Given the description of an element on the screen output the (x, y) to click on. 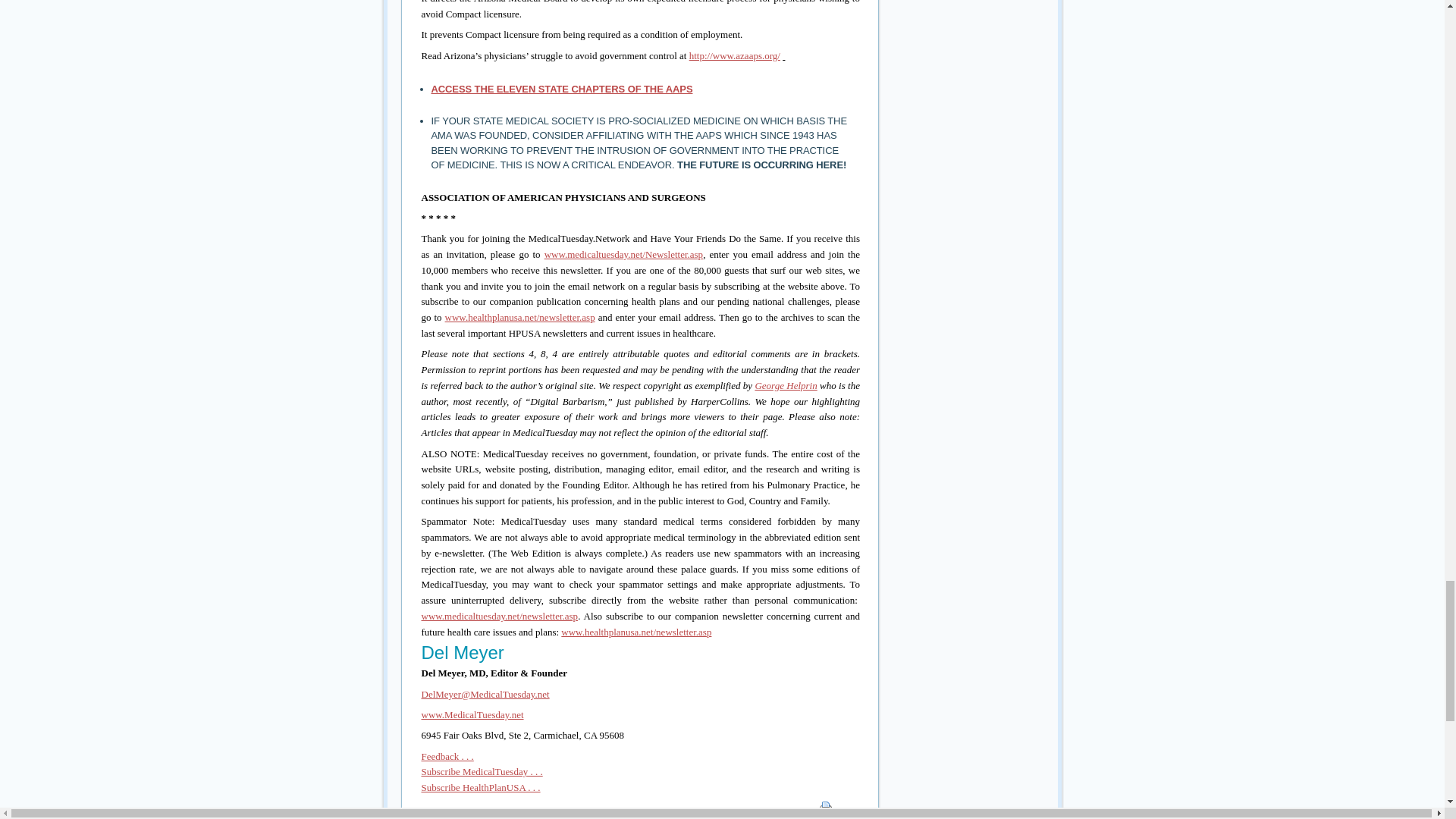
Print (825, 806)
Print (851, 809)
Print (826, 809)
